Given the description of an element on the screen output the (x, y) to click on. 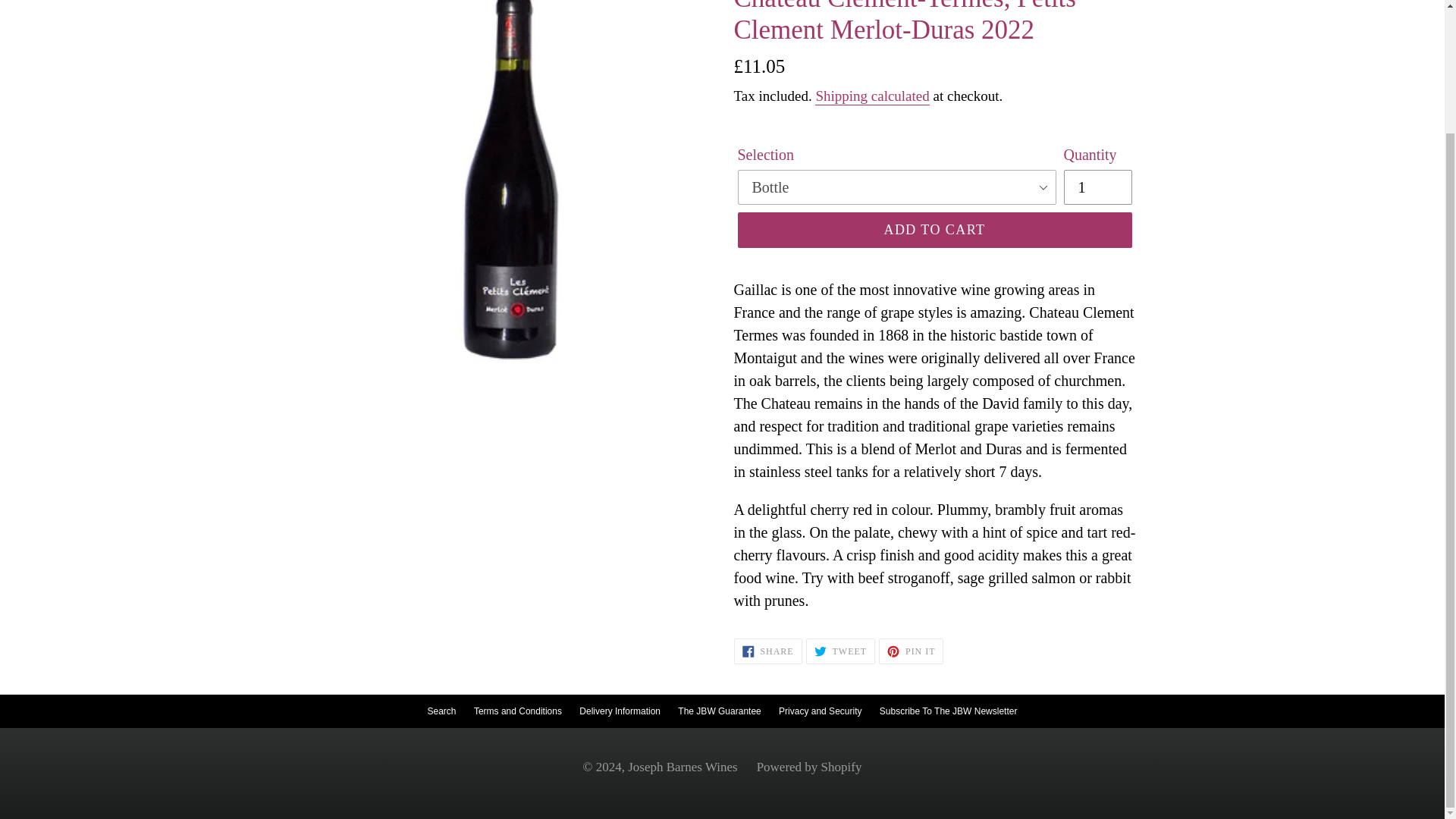
1 (1096, 186)
